Given the description of an element on the screen output the (x, y) to click on. 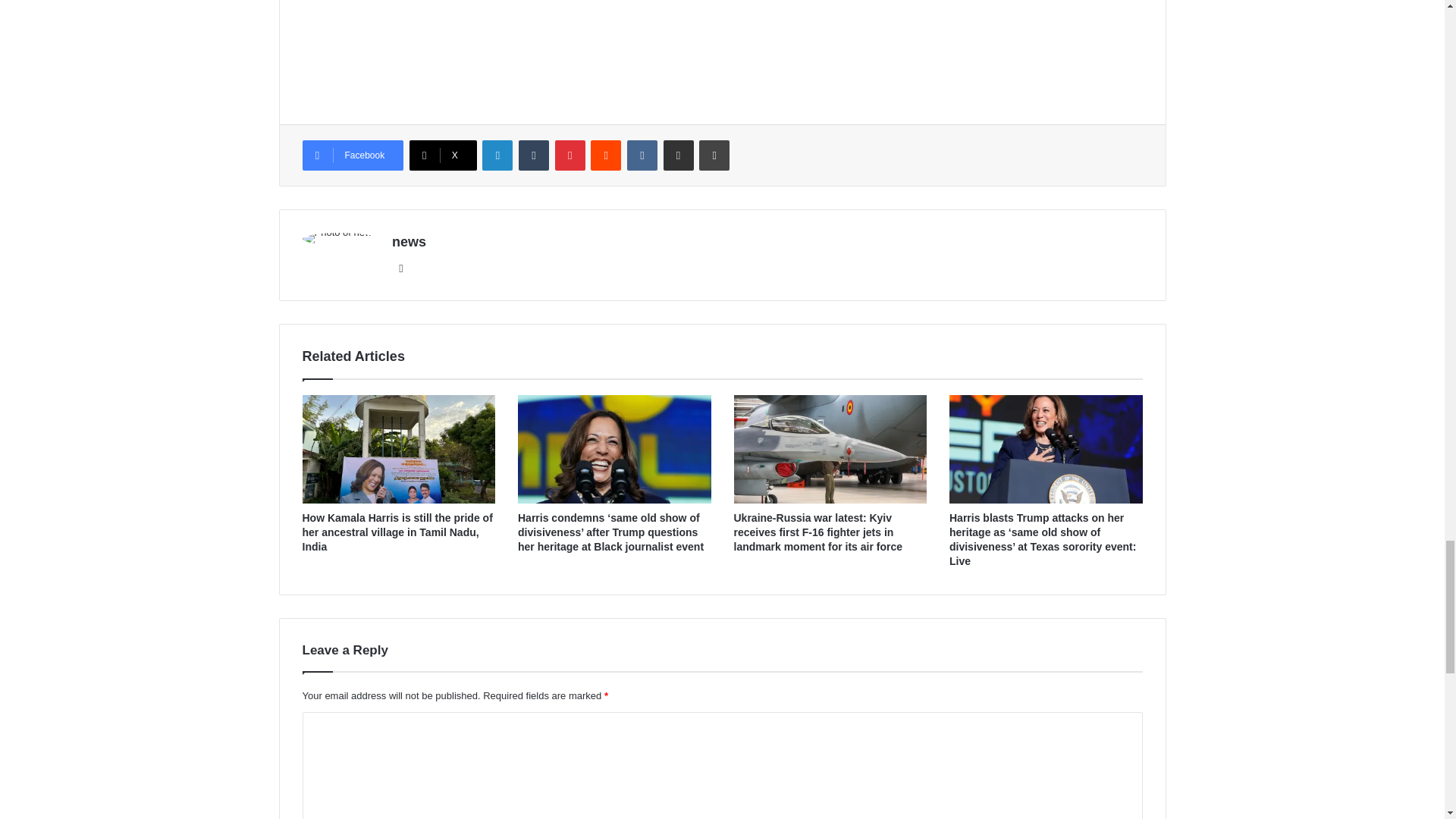
Print (713, 155)
LinkedIn (496, 155)
Website (400, 268)
Reddit (606, 155)
X (443, 155)
VKontakte (642, 155)
Tumblr (533, 155)
Facebook (352, 155)
news (408, 241)
Share via Email (678, 155)
Pinterest (569, 155)
